Given the description of an element on the screen output the (x, y) to click on. 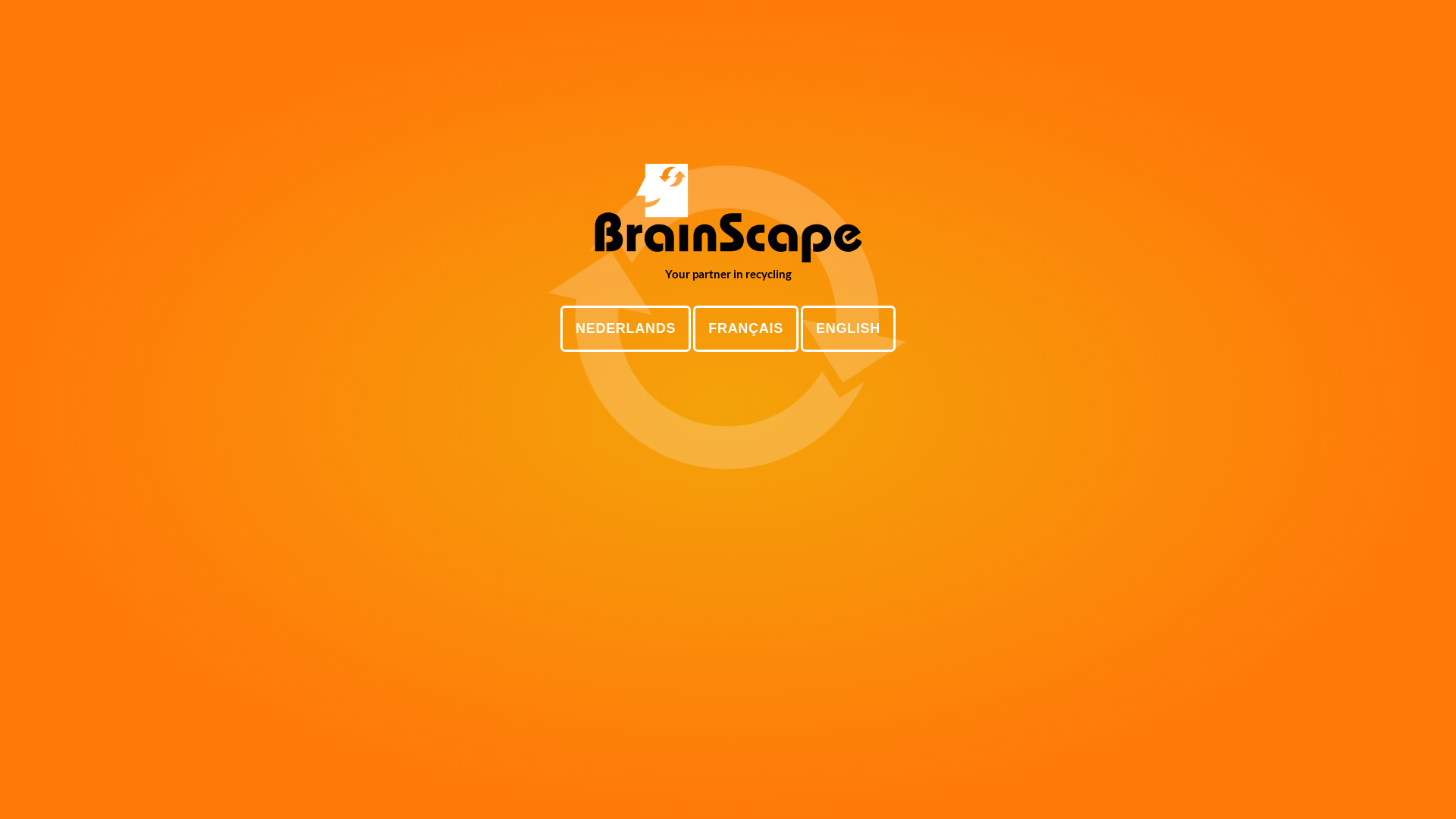
Brainscape Element type: hover (727, 212)
NEDERLANDS Element type: text (625, 328)
ENGLISH Element type: text (847, 328)
